Given the description of an element on the screen output the (x, y) to click on. 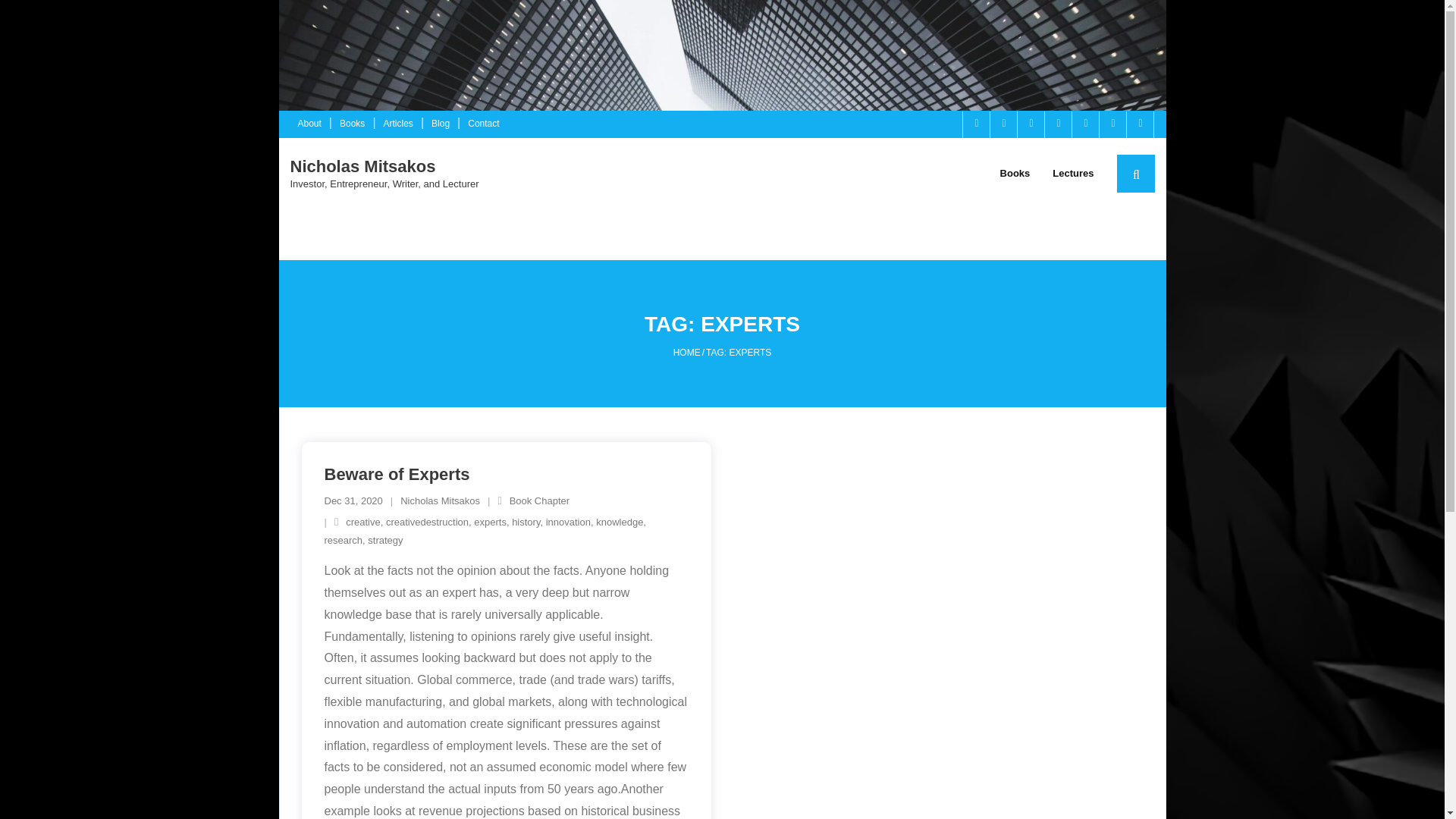
About (309, 124)
Beware of Experts (397, 474)
Blog (440, 124)
Contact (483, 124)
Articles (397, 124)
Search (32, 14)
Lectures (1073, 173)
Beware of Experts (353, 500)
experts (490, 521)
Book Chapter (539, 500)
